Given the description of an element on the screen output the (x, y) to click on. 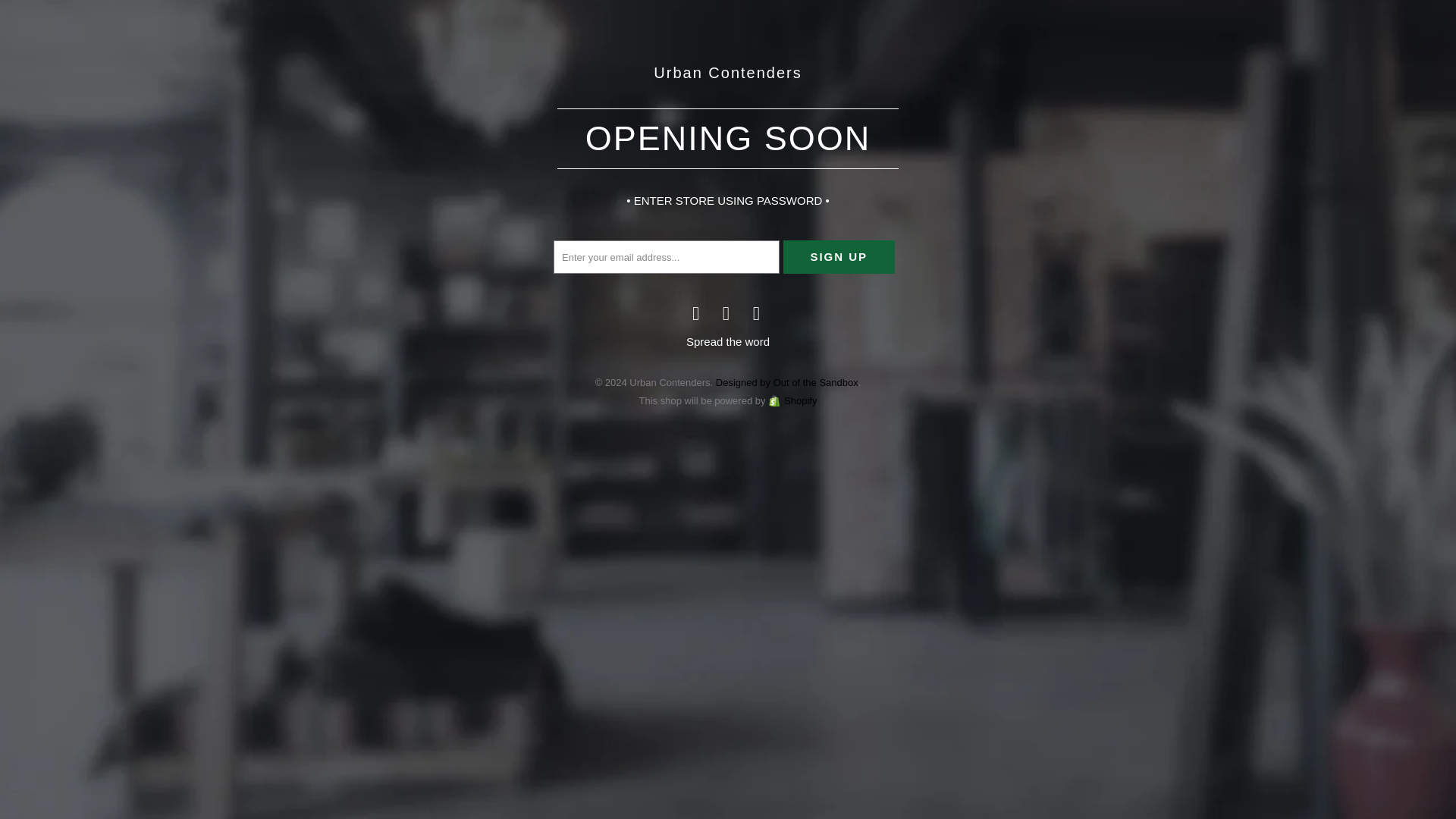
Sign Up (839, 256)
Urban Contenders on Facebook (695, 312)
Urban Contenders on Instagram (757, 312)
Urban Contenders on Pinterest (726, 312)
Sign Up (839, 256)
